Given the description of an element on the screen output the (x, y) to click on. 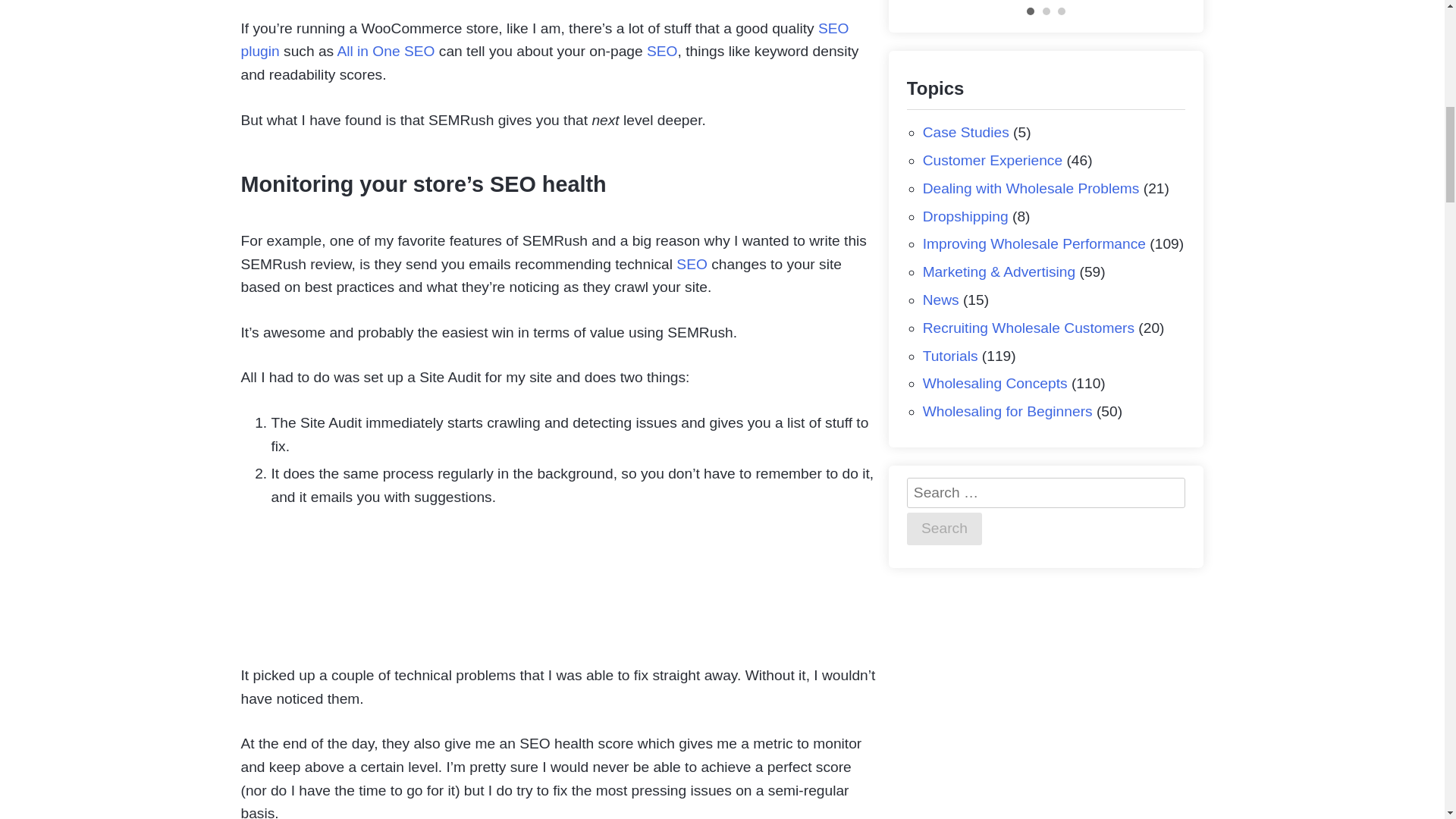
All-In-One SEO (544, 39)
All-In-One SEO (384, 50)
All-In-One SEO (692, 263)
All-In-One SEO (662, 50)
Search (944, 529)
Search (944, 529)
